Given the description of an element on the screen output the (x, y) to click on. 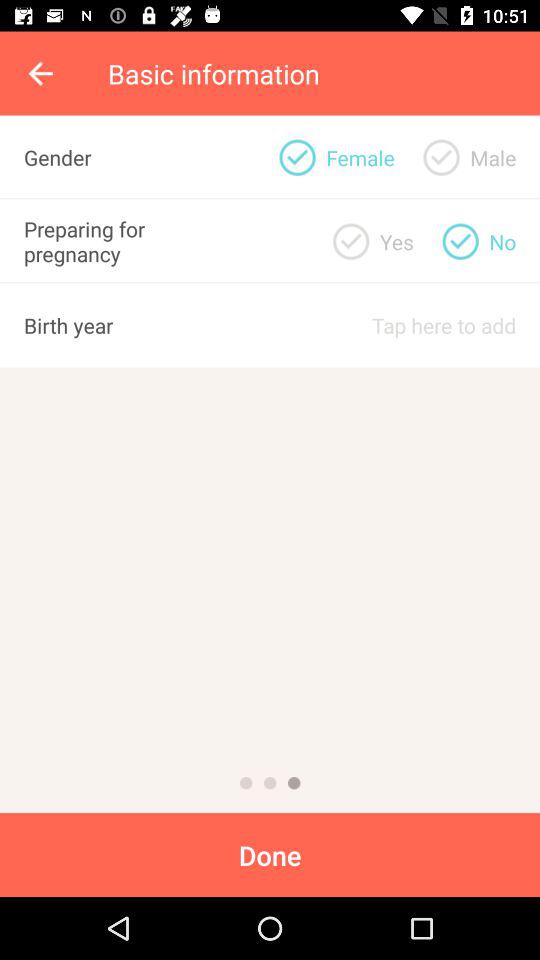
select gender (441, 157)
